Given the description of an element on the screen output the (x, y) to click on. 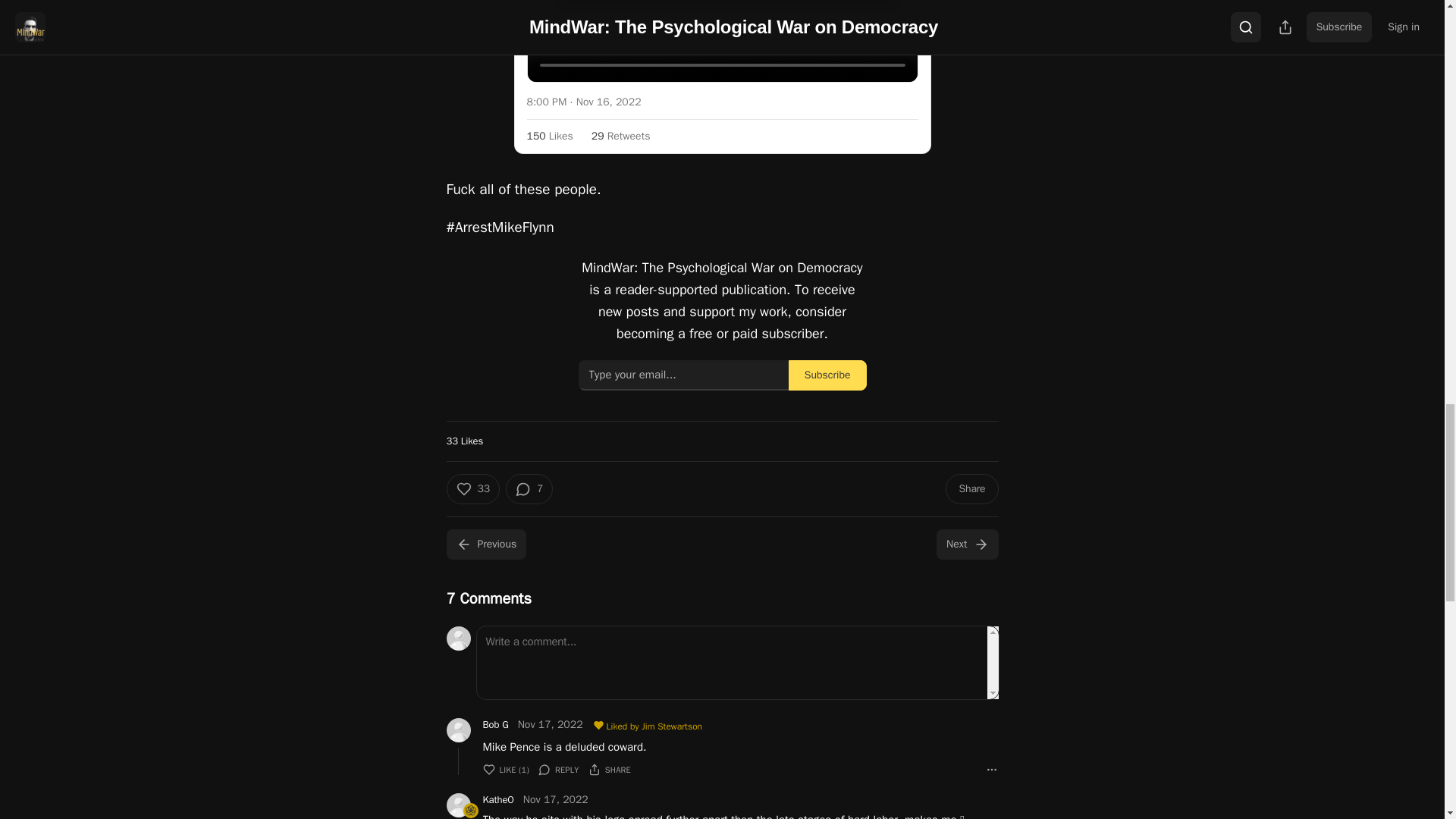
Founding Member (470, 810)
Founding Member (470, 810)
Subscribe (827, 375)
33 Likes (464, 440)
33 (472, 489)
